Given the description of an element on the screen output the (x, y) to click on. 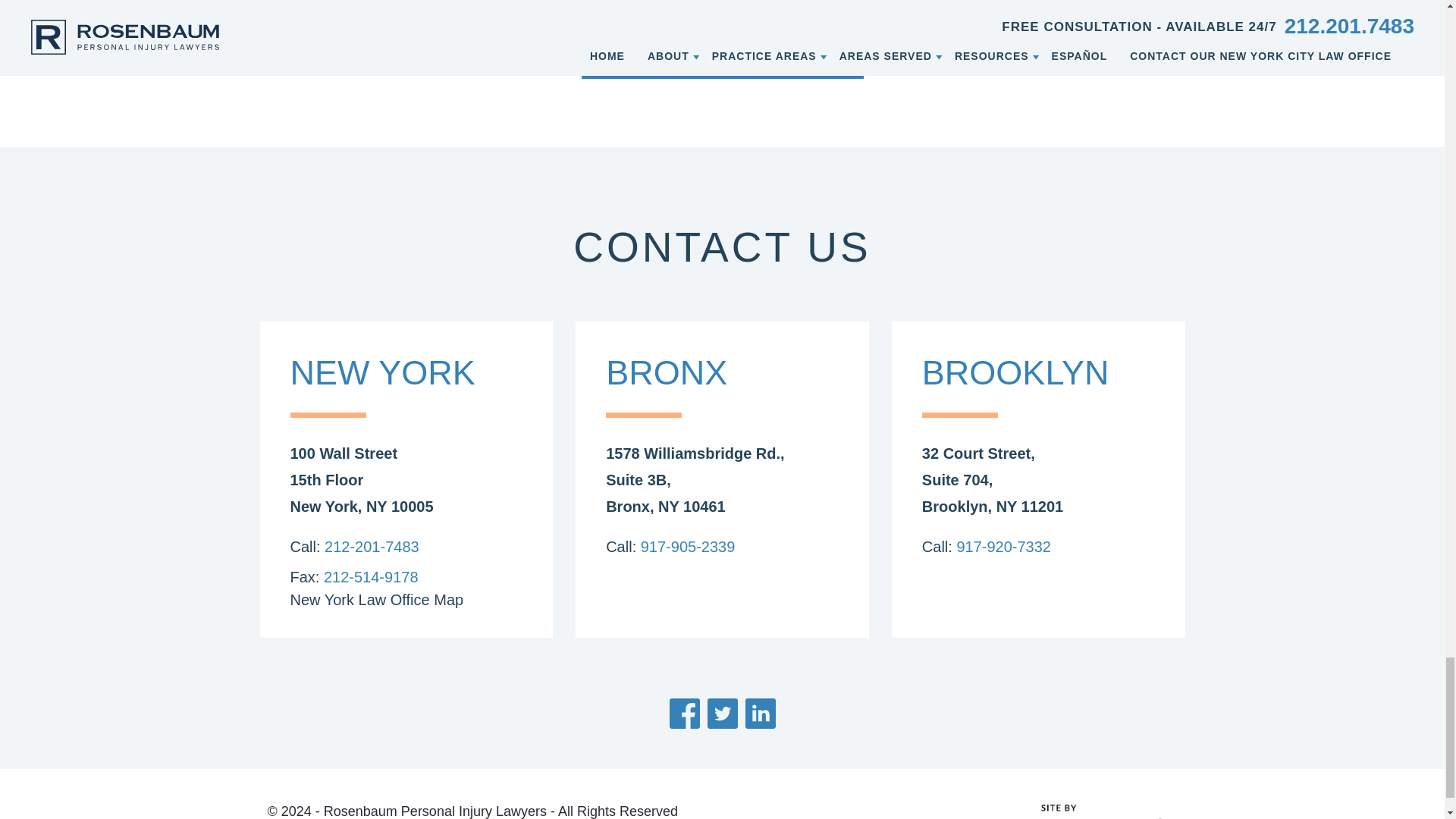
Get a Free Consultation (721, 51)
